Given the description of an element on the screen output the (x, y) to click on. 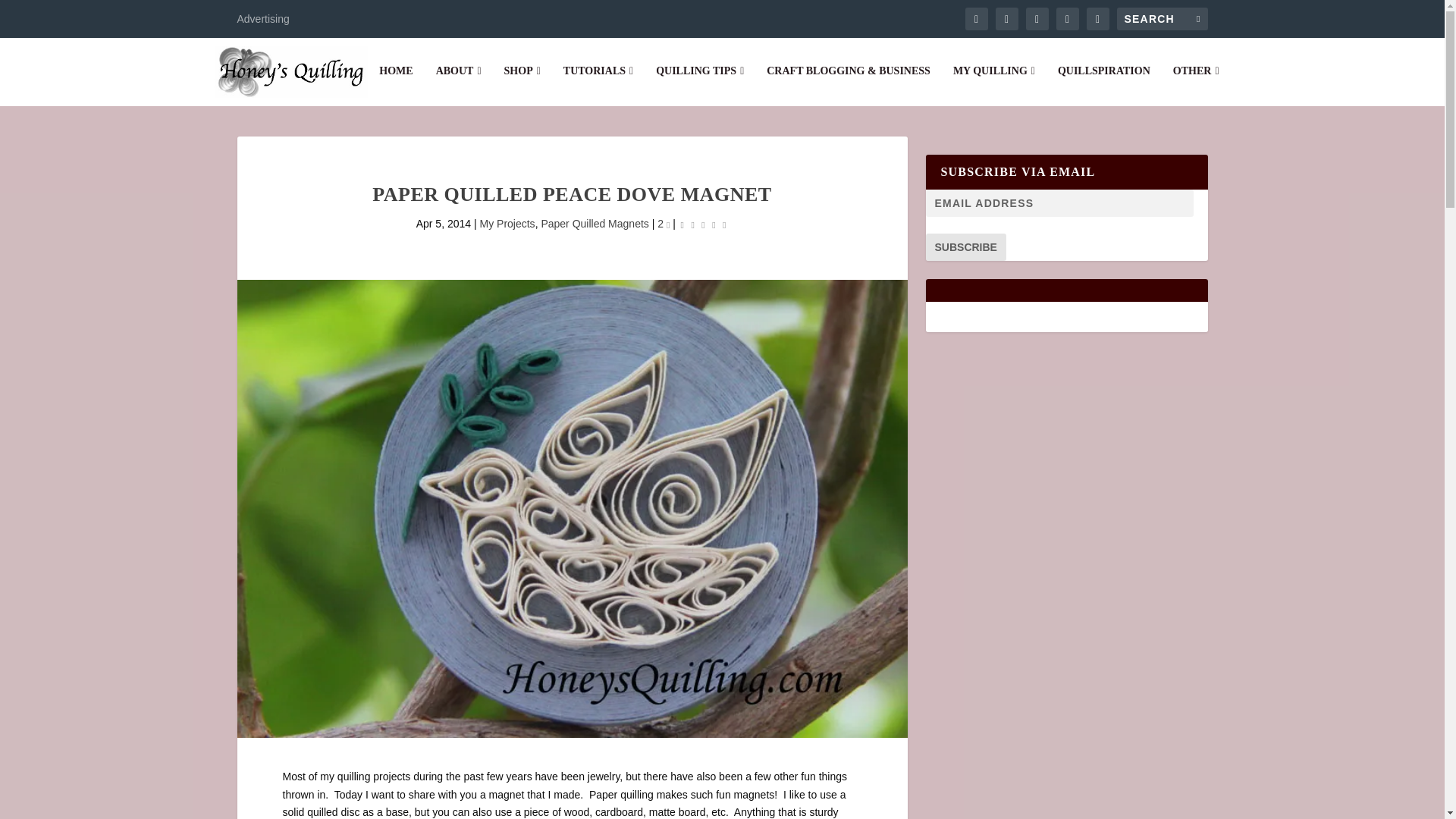
Rating: 0.50 (703, 224)
ABOUT (458, 85)
TUTORIALS (598, 85)
MY QUILLING (994, 85)
QUILLING TIPS (700, 85)
Advertising (261, 18)
Search for: (1161, 18)
SHOP (521, 85)
